Given the description of an element on the screen output the (x, y) to click on. 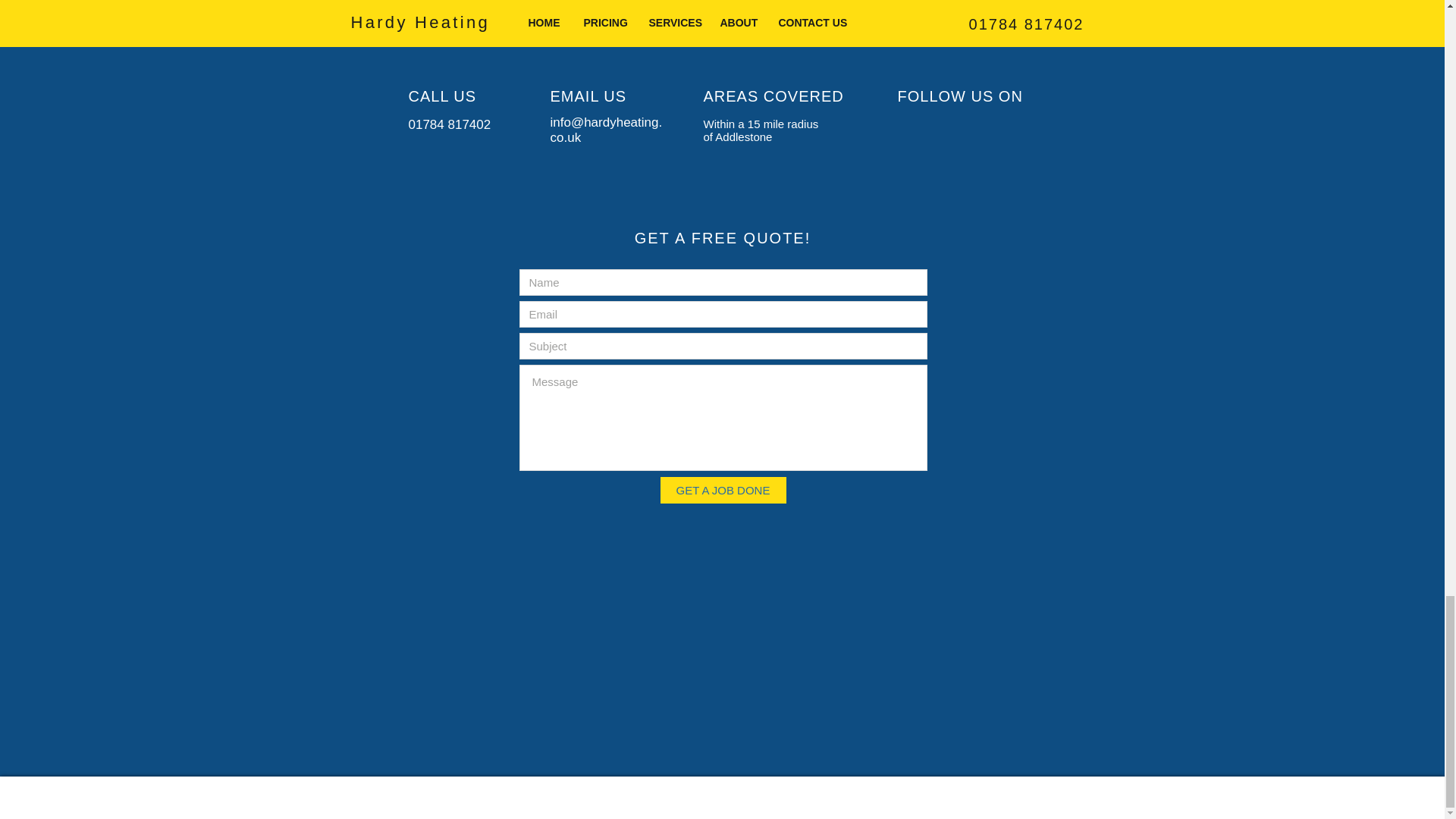
GET A JOB DONE (722, 489)
